Given the description of an element on the screen output the (x, y) to click on. 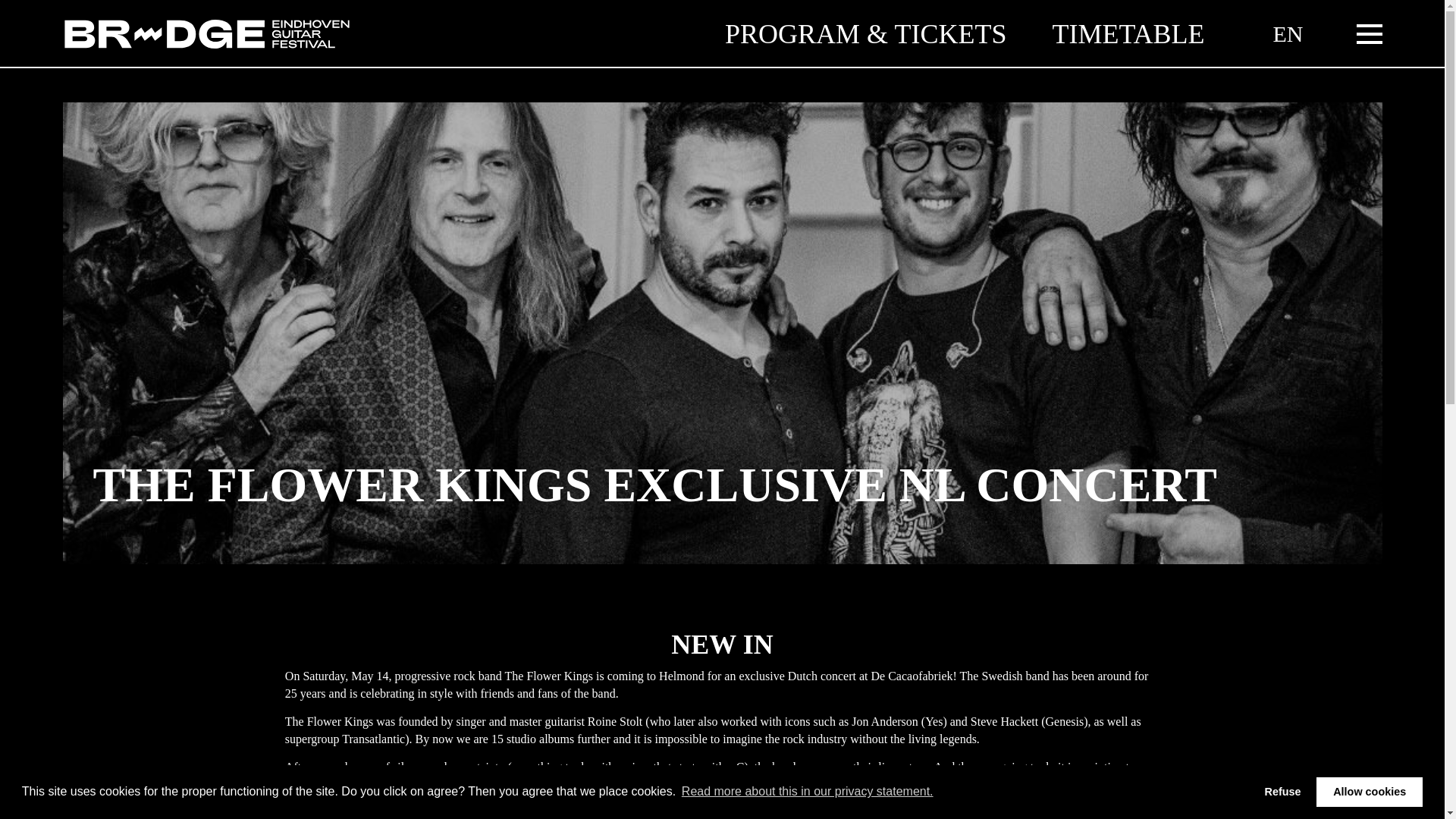
EN (1287, 33)
Refuse (1282, 791)
TIMETABLE (1128, 33)
Bridge (206, 34)
Read more about this in our privacy statement. (807, 791)
Allow cookies (1369, 791)
